Given the description of an element on the screen output the (x, y) to click on. 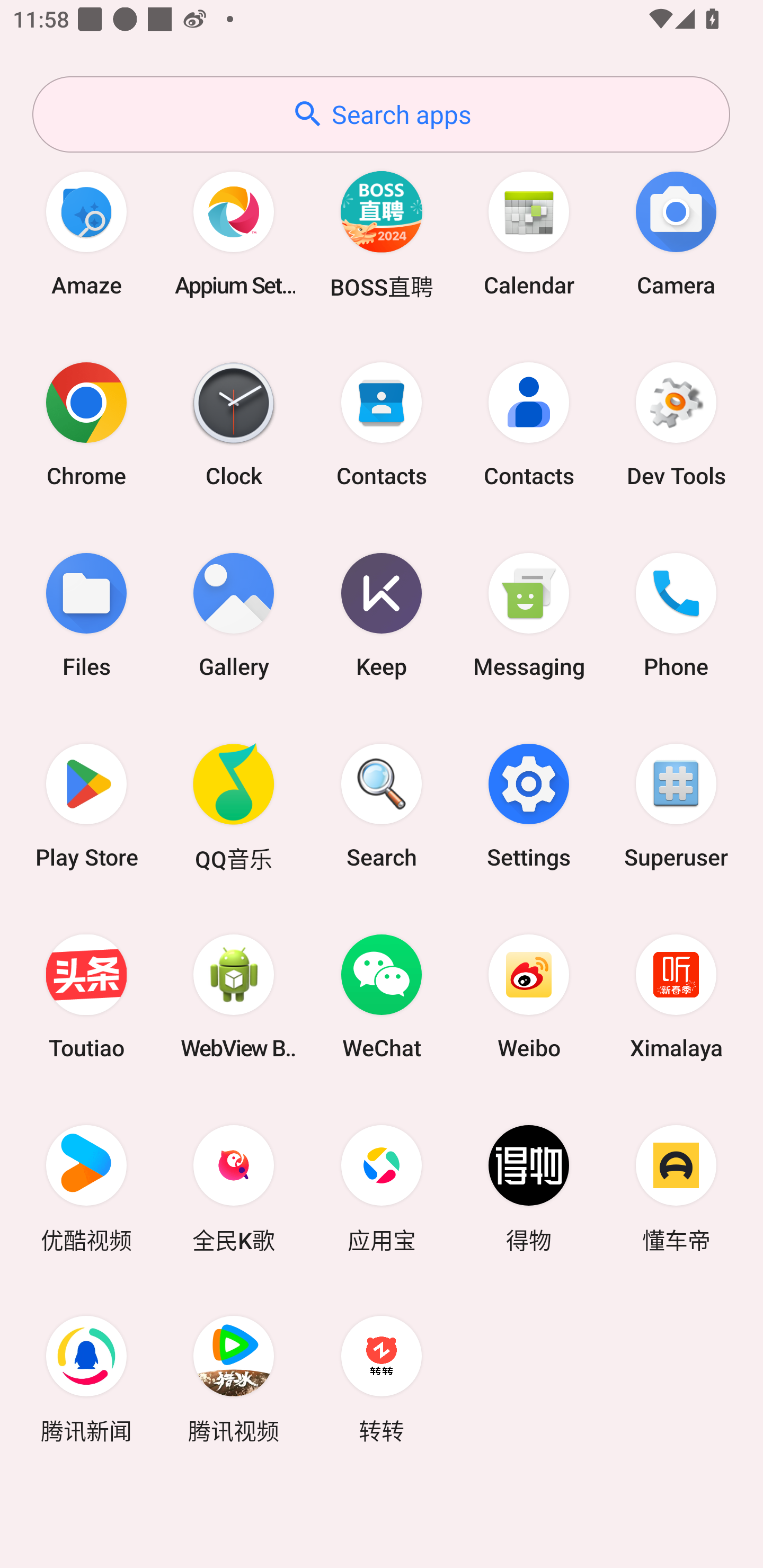
  Search apps (381, 114)
Amaze (86, 233)
Appium Settings (233, 233)
BOSS直聘 (381, 233)
Calendar (528, 233)
Camera (676, 233)
Chrome (86, 424)
Clock (233, 424)
Contacts (381, 424)
Contacts (528, 424)
Dev Tools (676, 424)
Files (86, 614)
Gallery (233, 614)
Keep (381, 614)
Messaging (528, 614)
Phone (676, 614)
Play Store (86, 805)
QQ音乐 (233, 805)
Search (381, 805)
Settings (528, 805)
Superuser (676, 805)
Toutiao (86, 996)
WebView Browser Tester (233, 996)
WeChat (381, 996)
Weibo (528, 996)
Ximalaya (676, 996)
优酷视频 (86, 1186)
全民K歌 (233, 1186)
应用宝 (381, 1186)
得物 (528, 1186)
懂车帝 (676, 1186)
腾讯新闻 (86, 1377)
腾讯视频 (233, 1377)
转转 (381, 1377)
